Given the description of an element on the screen output the (x, y) to click on. 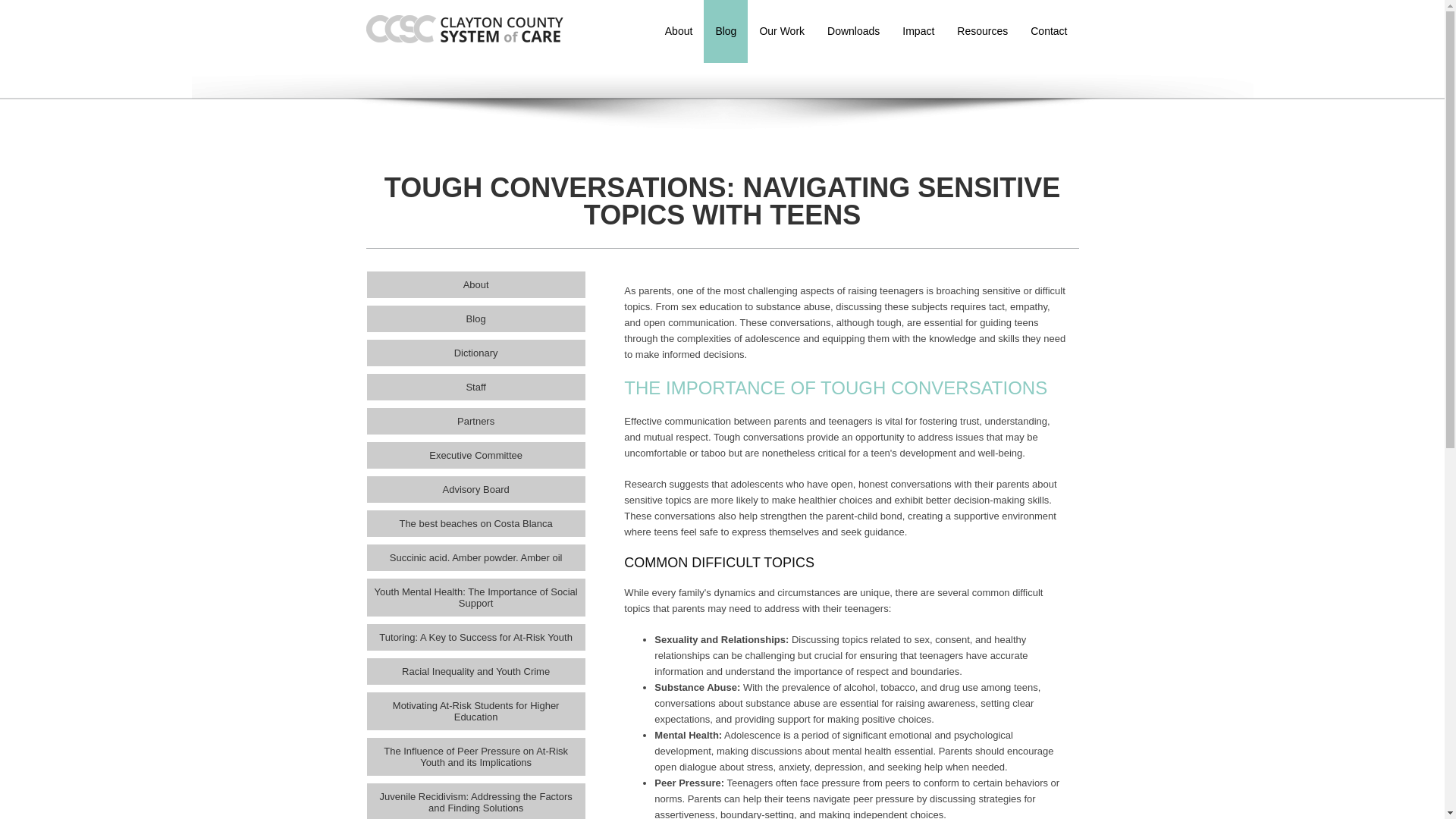
Partners (475, 420)
Dictionary (475, 352)
Youth Mental Health: The Importance of Social Support (475, 597)
Blog (475, 318)
Racial Inequality and Youth Crime (475, 671)
Motivating At-Risk Students for Higher Education (475, 711)
Advisory Board (475, 488)
Tutoring: A Key to Success for At-Risk Youth (475, 637)
About (475, 284)
Executive Committee (475, 455)
Staff (475, 386)
The best beaches on Costa Blanca (475, 523)
Succinic acid. Amber powder. Amber oil (475, 557)
